Given the description of an element on the screen output the (x, y) to click on. 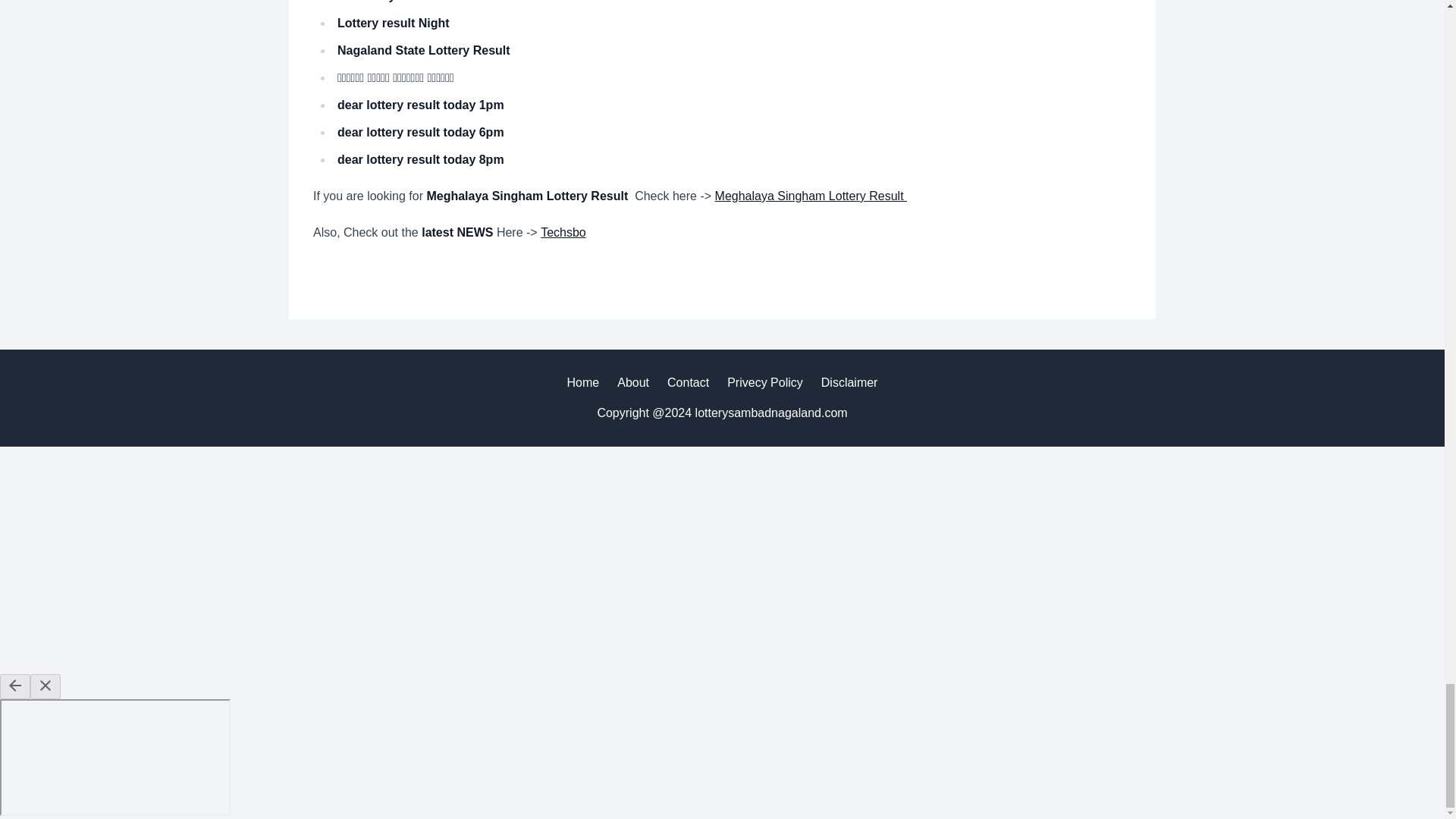
Techsbo (563, 232)
Techsbo (563, 232)
Contact (687, 382)
About (633, 382)
Privecy Policy (764, 382)
Meghalaya Singham Lottery Result  (810, 195)
Home (583, 382)
Disclaimer (849, 382)
